Given the description of an element on the screen output the (x, y) to click on. 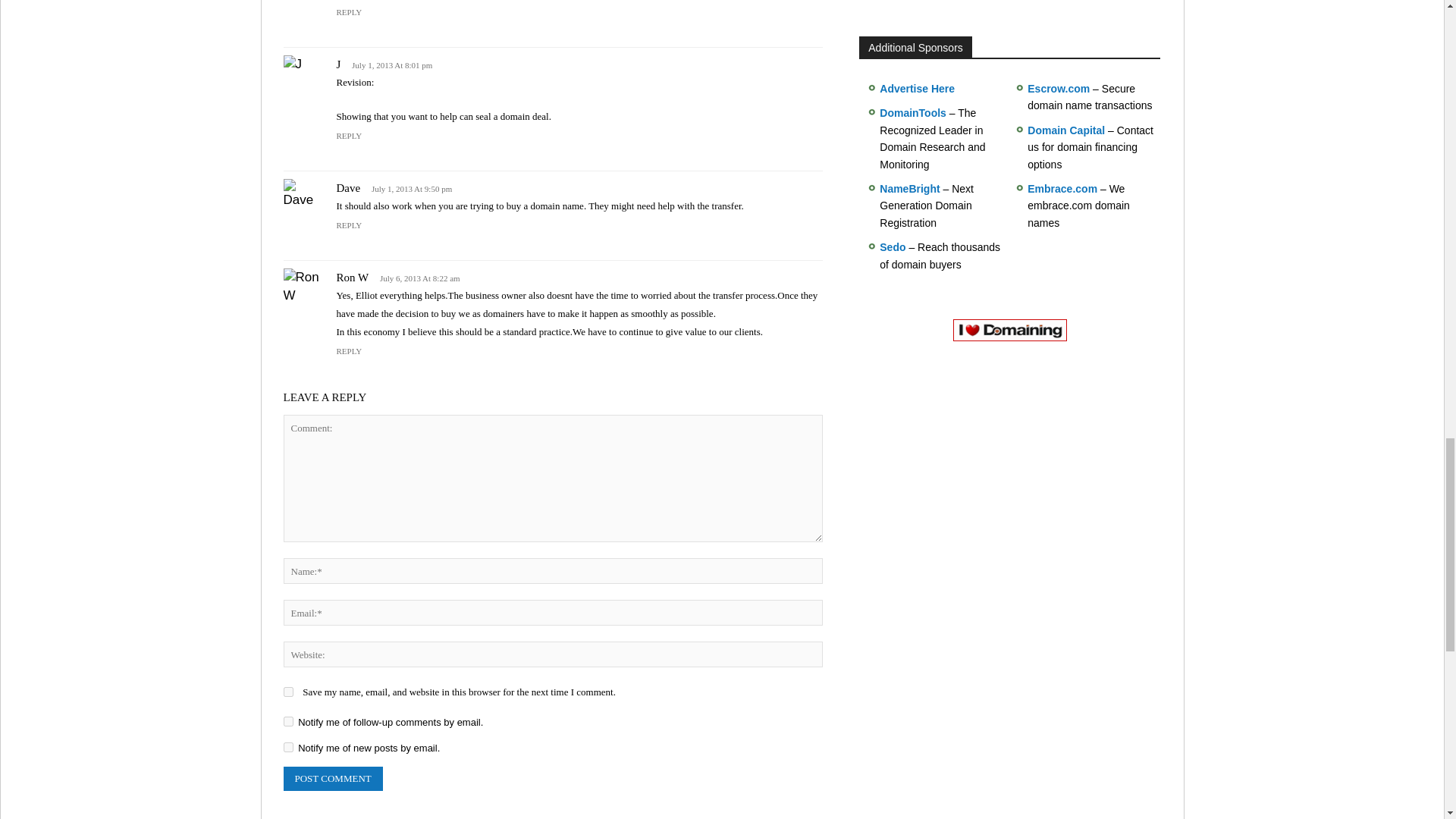
subscribe (288, 721)
subscribe (288, 747)
yes (288, 691)
Post Comment (332, 778)
